Given the description of an element on the screen output the (x, y) to click on. 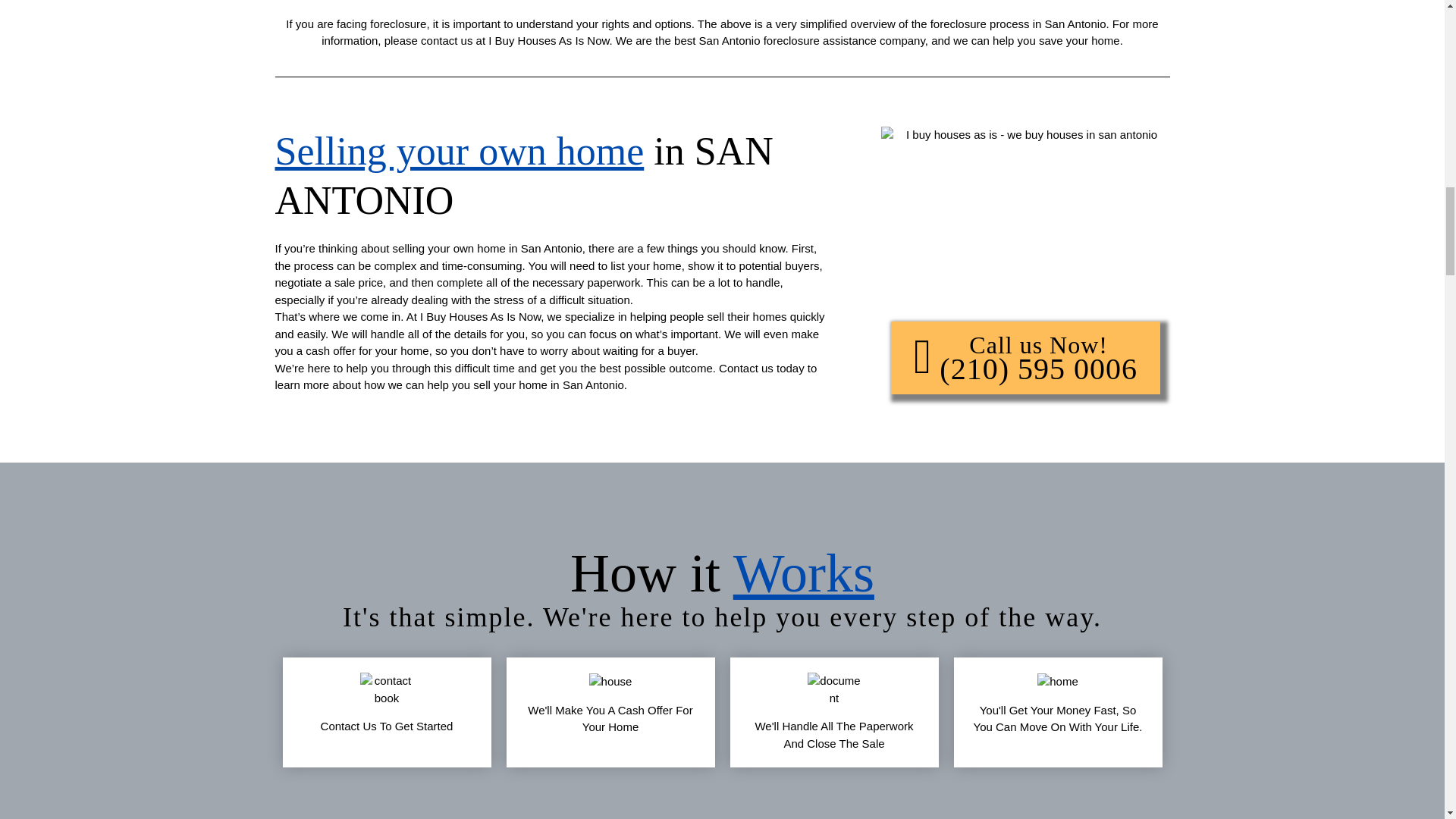
Home 10 (834, 689)
Home 11 (1057, 682)
Home 9 (610, 682)
Selling your own home in SAN ANTONIO (524, 175)
Home 7 (1024, 216)
Home 8 (386, 689)
